Given the description of an element on the screen output the (x, y) to click on. 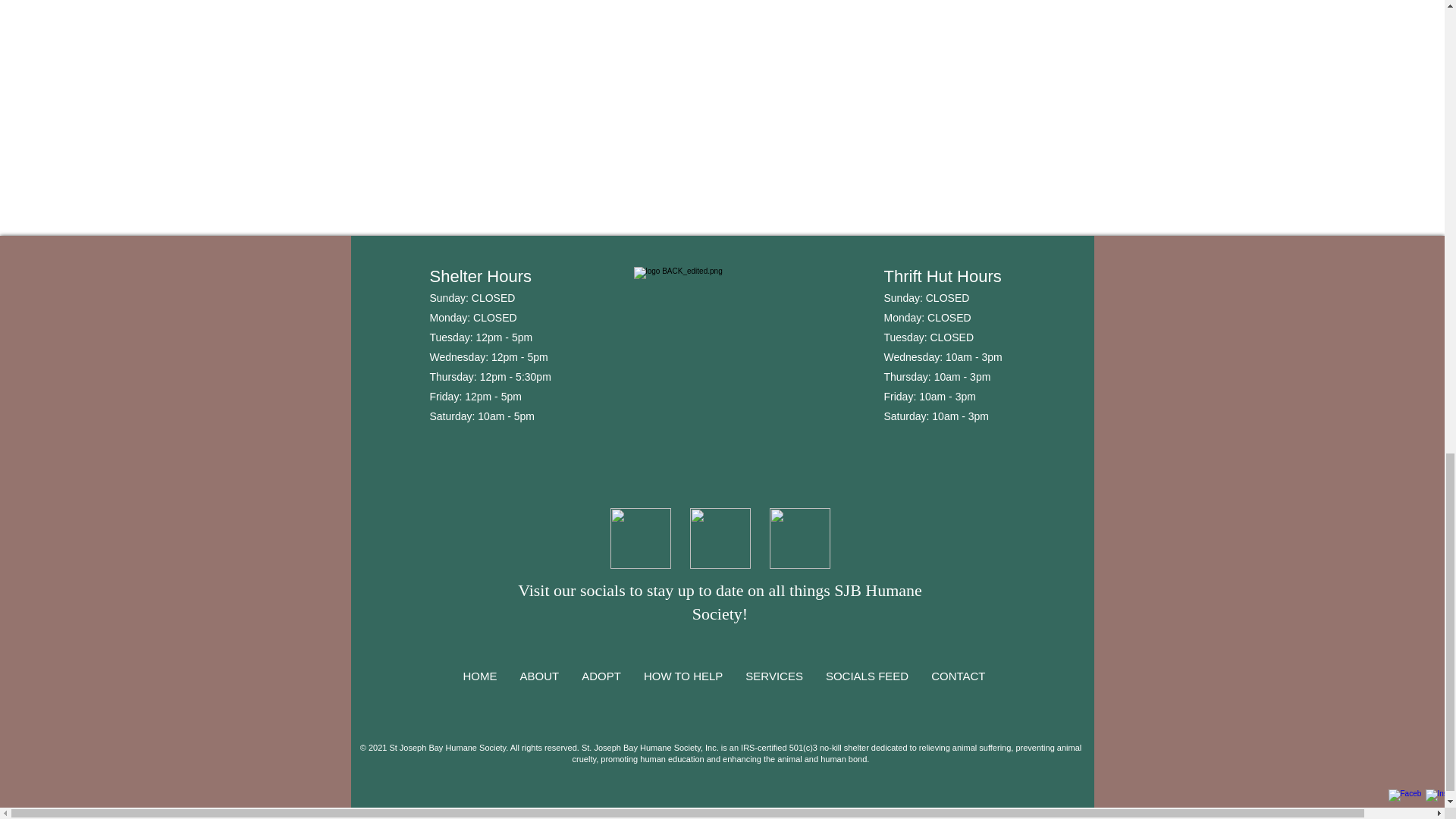
HOW TO HELP (682, 686)
ADOPT (600, 686)
SERVICES (773, 686)
HOME (479, 686)
ABOUT (539, 686)
